Given the description of an element on the screen output the (x, y) to click on. 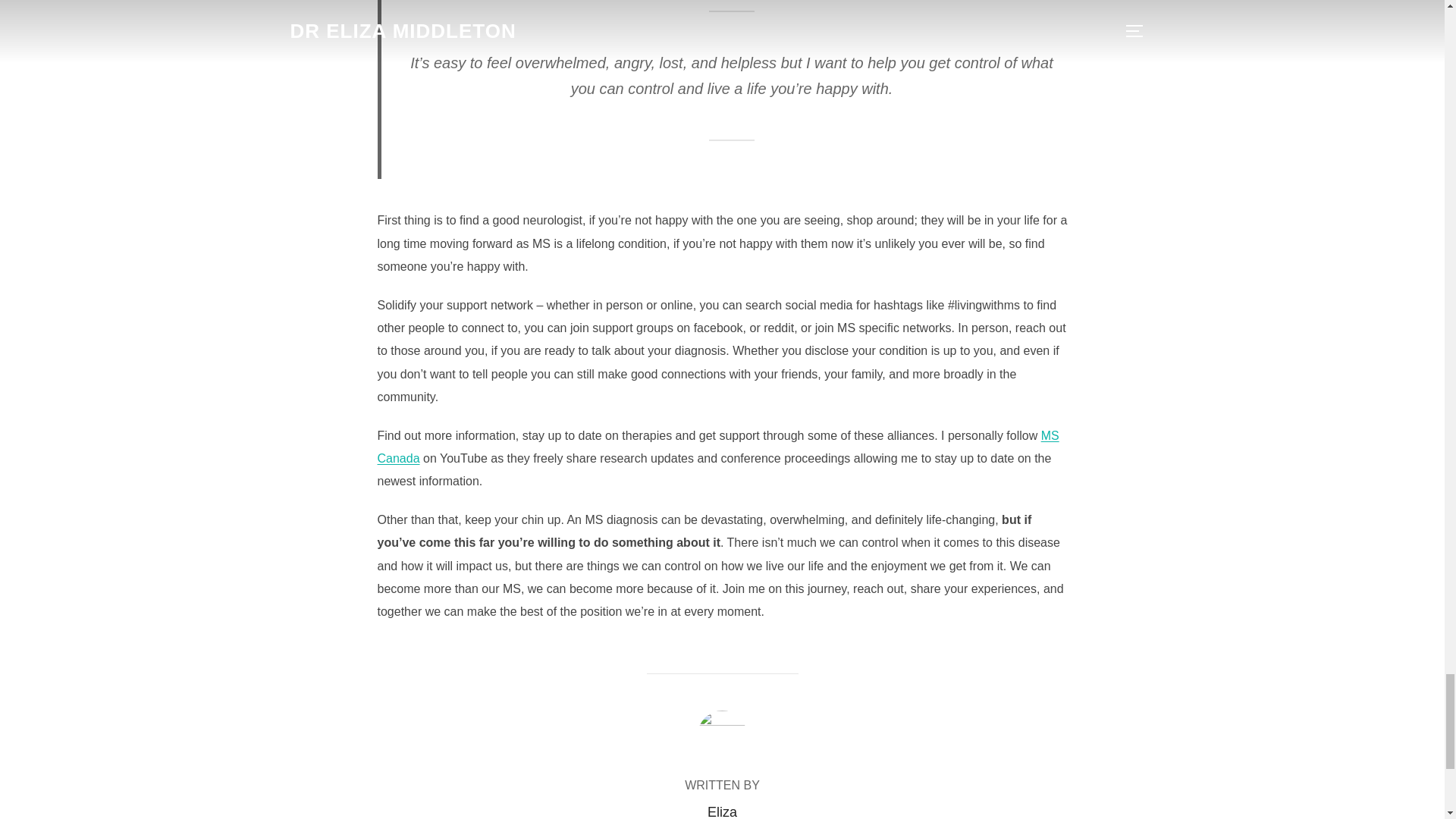
MS Canada (718, 447)
Posts by Eliza (721, 811)
Eliza (721, 811)
